Given the description of an element on the screen output the (x, y) to click on. 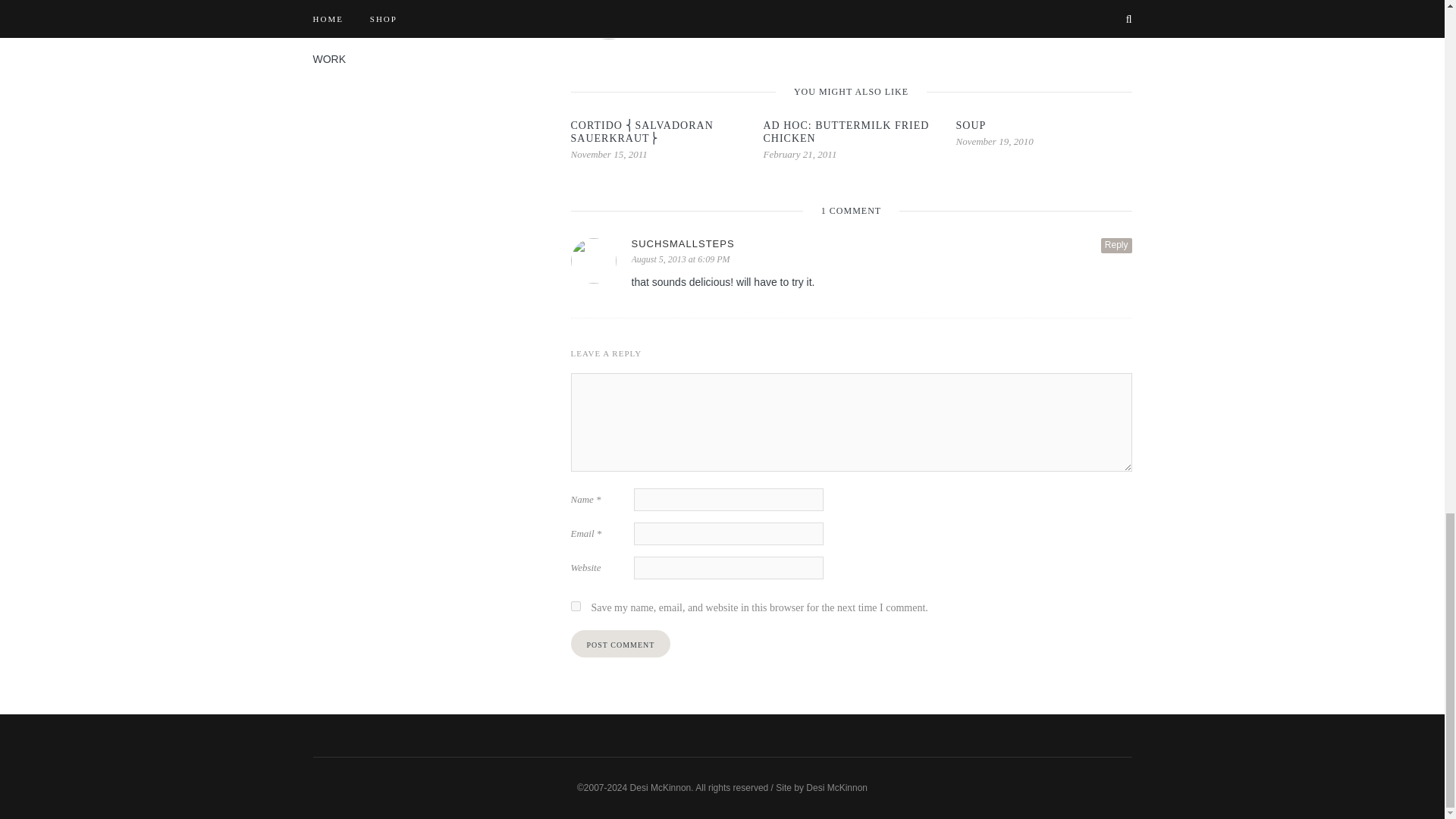
TRAVEL (332, 33)
Post Comment (619, 643)
WORK (329, 59)
yes (574, 605)
Post Comment (619, 643)
SOUP (970, 125)
SAN DIEGO (342, 7)
AD HOC: BUTTERMILK FRIED CHICKEN (845, 131)
SUCHSMALLSTEPS (880, 243)
Reply (1116, 245)
